Given the description of an element on the screen output the (x, y) to click on. 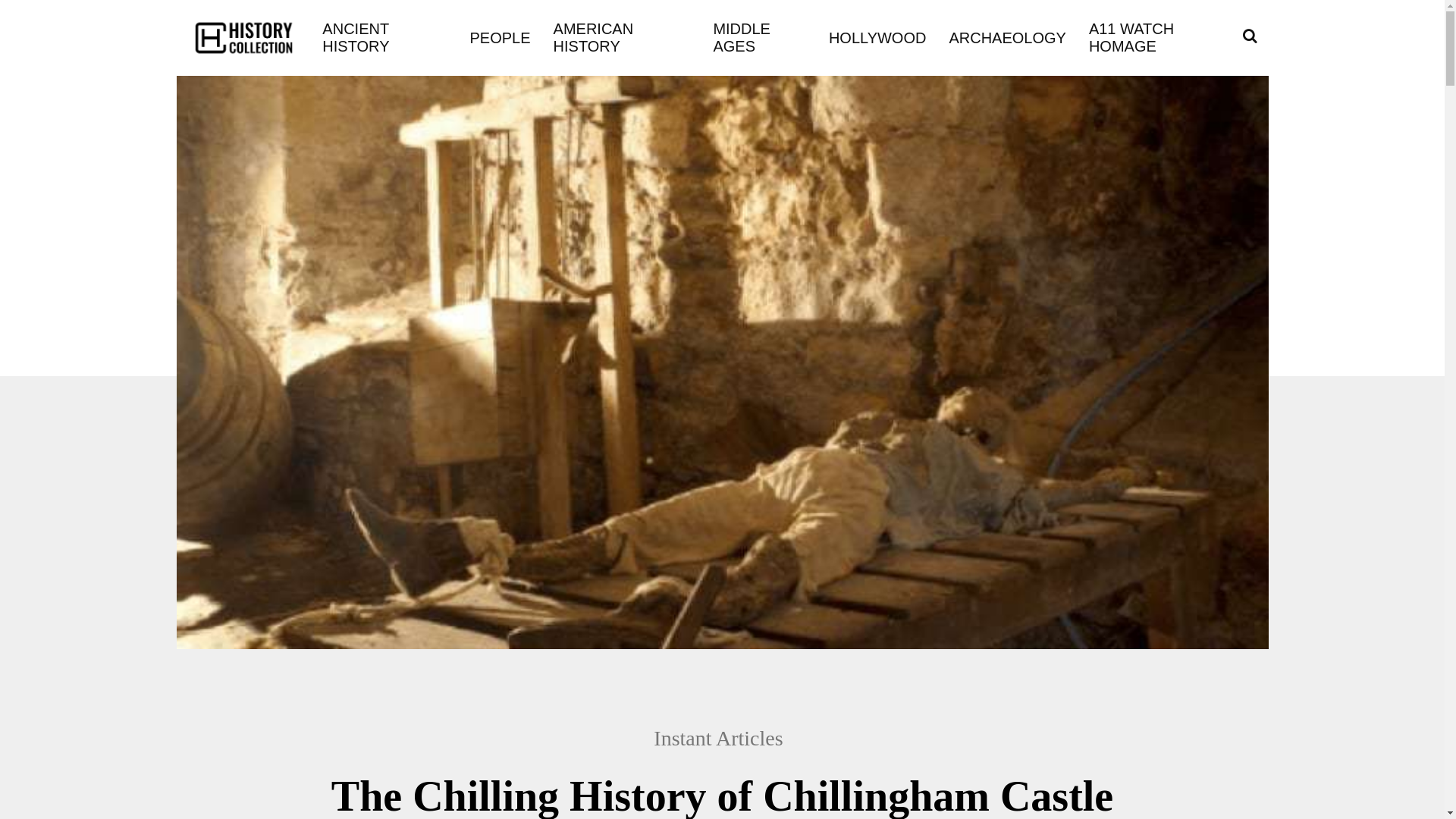
PEOPLE (500, 36)
AMERICAN HISTORY (622, 37)
MIDDLE AGES (758, 37)
A11 WATCH HOMAGE (1160, 37)
HOLLYWOOD (877, 36)
ARCHAEOLOGY (1006, 36)
ANCIENT HISTORY (384, 37)
Instant Articles (725, 738)
